Given the description of an element on the screen output the (x, y) to click on. 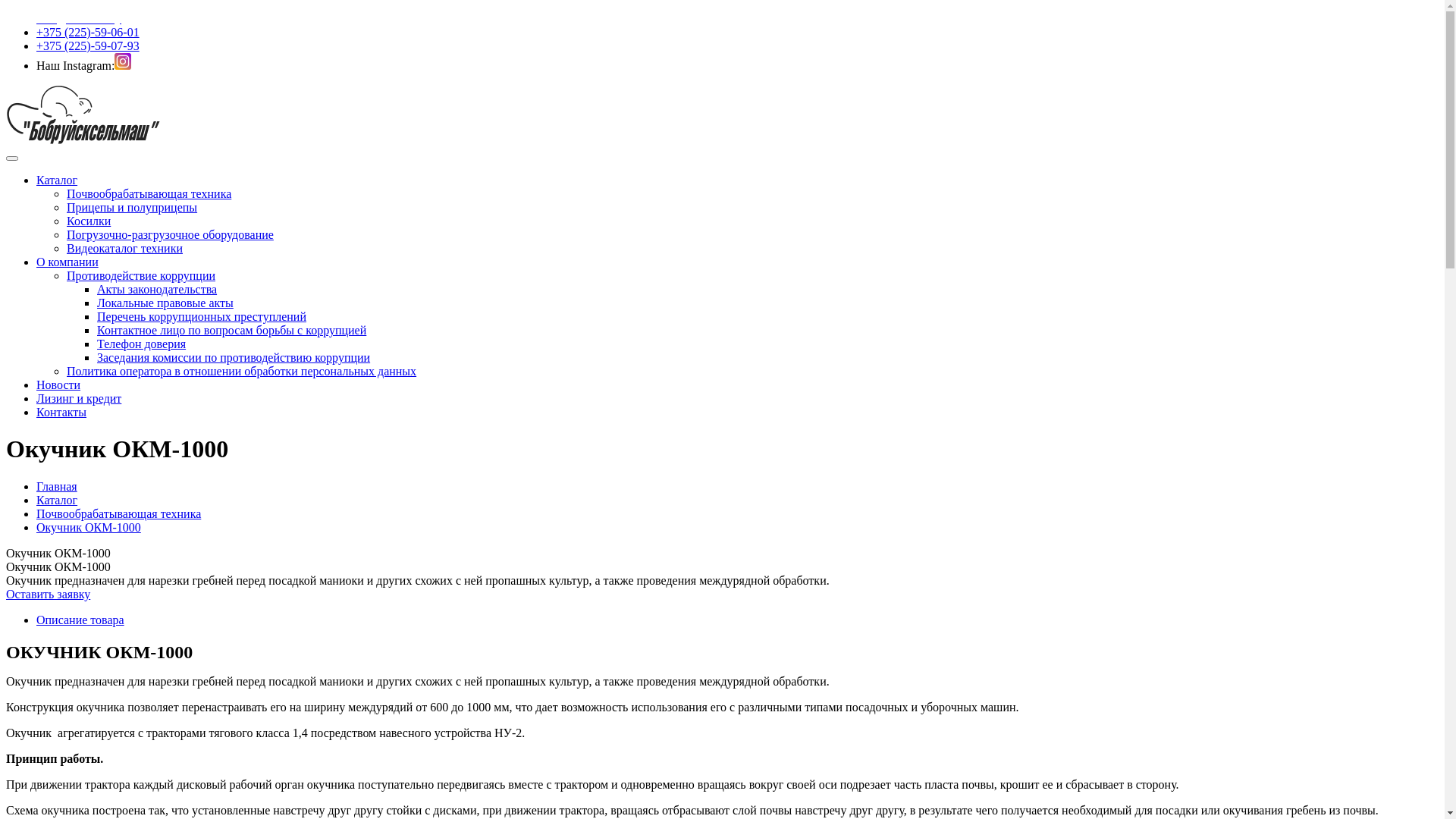
info@selmash.by Element type: text (78, 18)
+375 (225)-59-07-93 Element type: text (87, 45)
+375 (225)-59-06-01 Element type: text (87, 31)
